Given the description of an element on the screen output the (x, y) to click on. 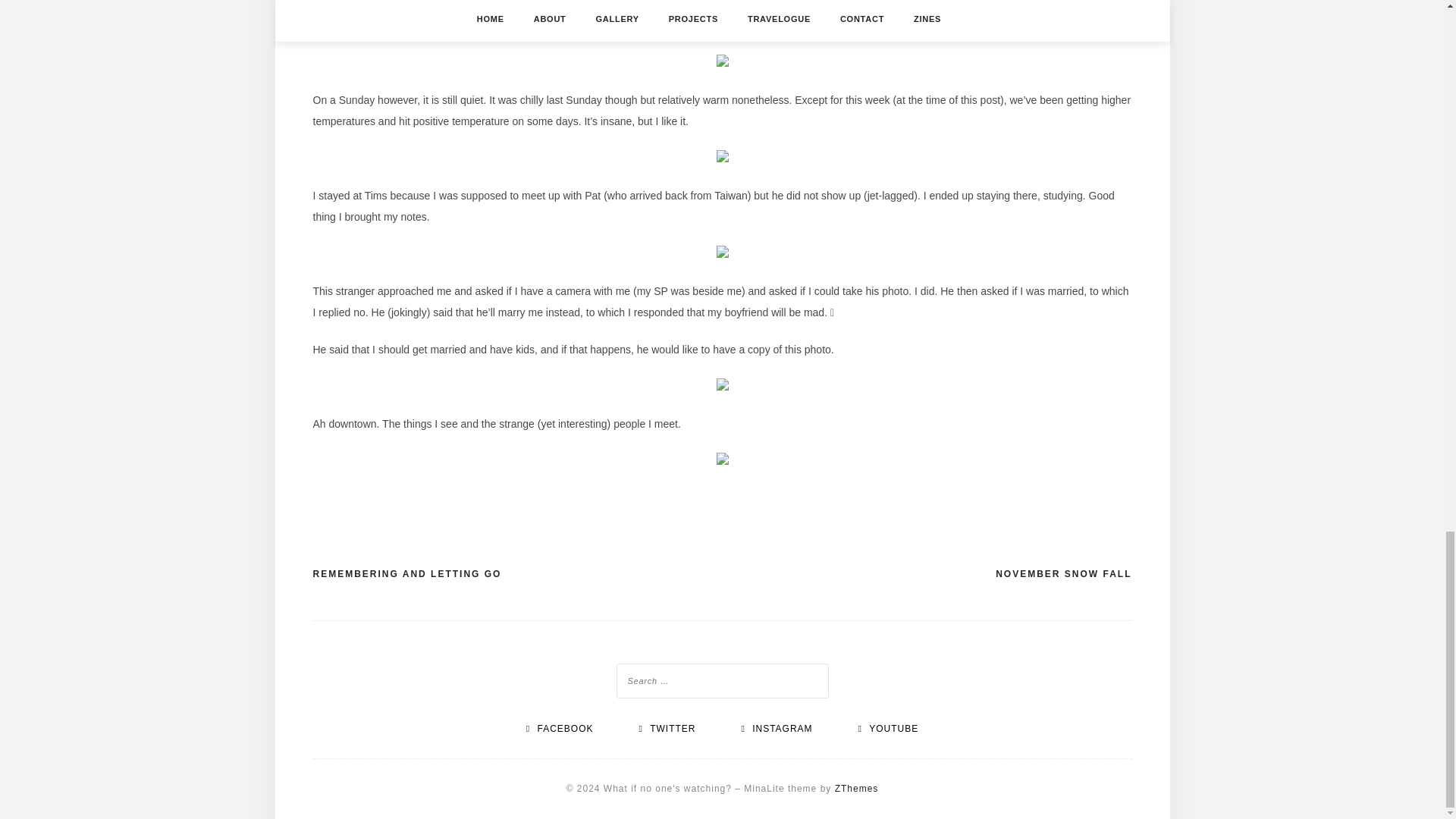
FACEBOOK (559, 728)
NOVEMBER SNOW FALL (1063, 574)
REMEMBERING AND LETTING GO (406, 574)
